Given the description of an element on the screen output the (x, y) to click on. 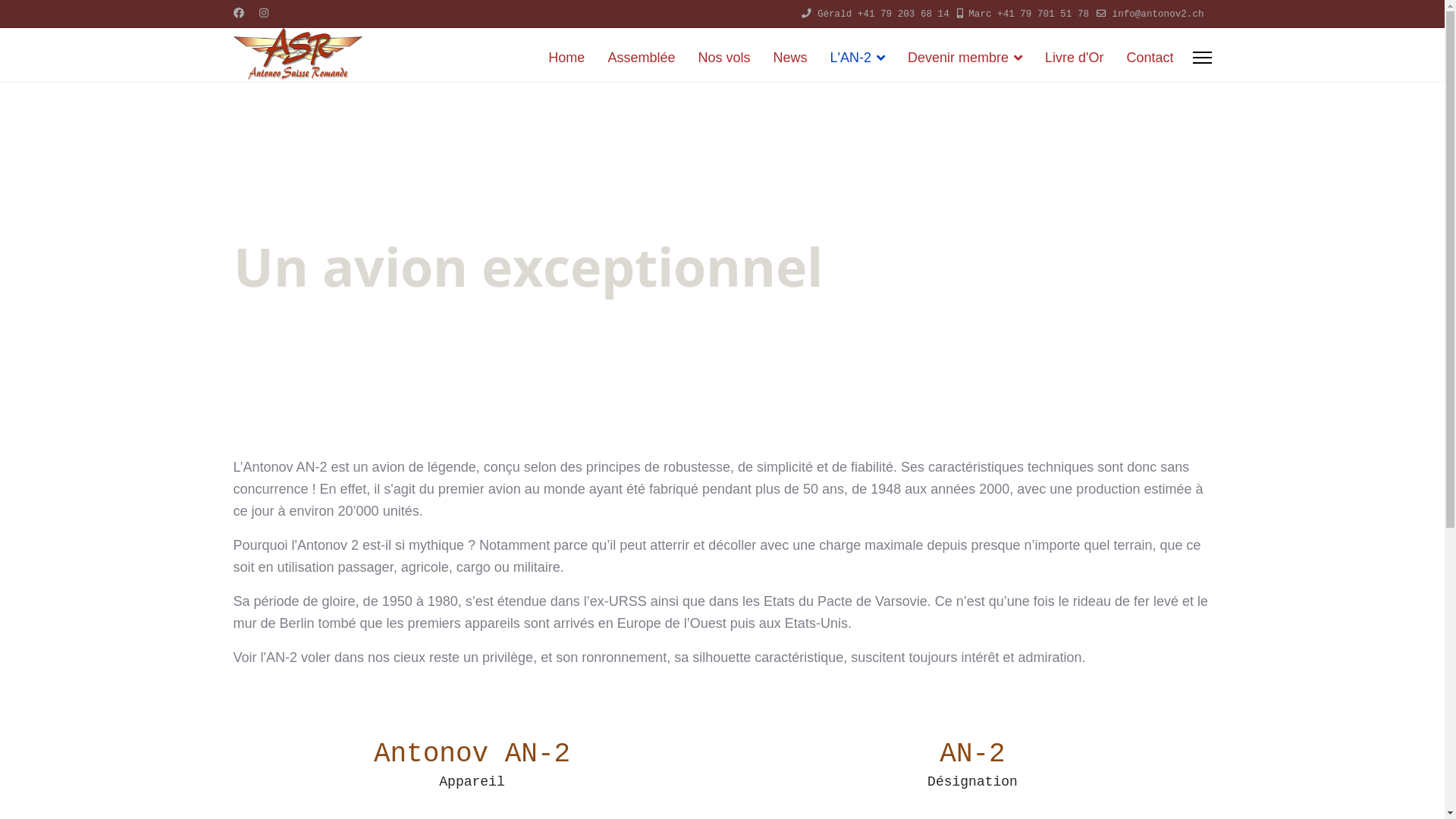
Menu Element type: hover (1201, 57)
Contact Element type: text (1143, 57)
Marc +41 79 701 51 78 Element type: text (1028, 14)
L'AN-2 Element type: text (856, 57)
Home Element type: text (566, 57)
info@antonov2.ch Element type: text (1158, 14)
Devenir membre Element type: text (964, 57)
News Element type: text (789, 57)
Nos vols Element type: text (723, 57)
Livre d'Or Element type: text (1073, 57)
